Given the description of an element on the screen output the (x, y) to click on. 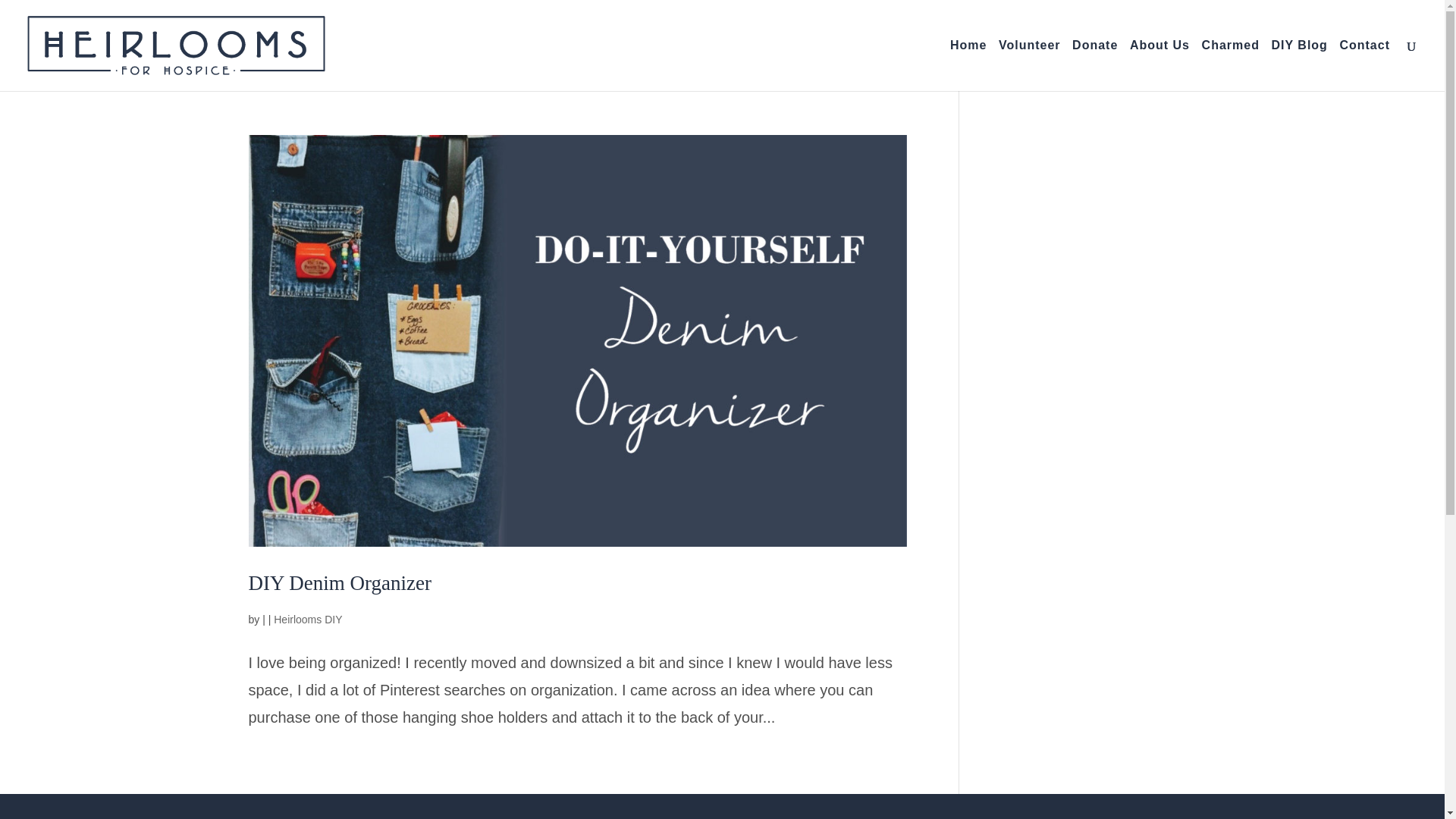
Donate (1094, 65)
Volunteer (1029, 65)
Heirlooms DIY (307, 619)
DIY Blog (1298, 65)
DIY Denim Organizer (339, 582)
Charmed (1230, 65)
About Us (1159, 65)
Contact (1364, 65)
Home (968, 65)
